Given the description of an element on the screen output the (x, y) to click on. 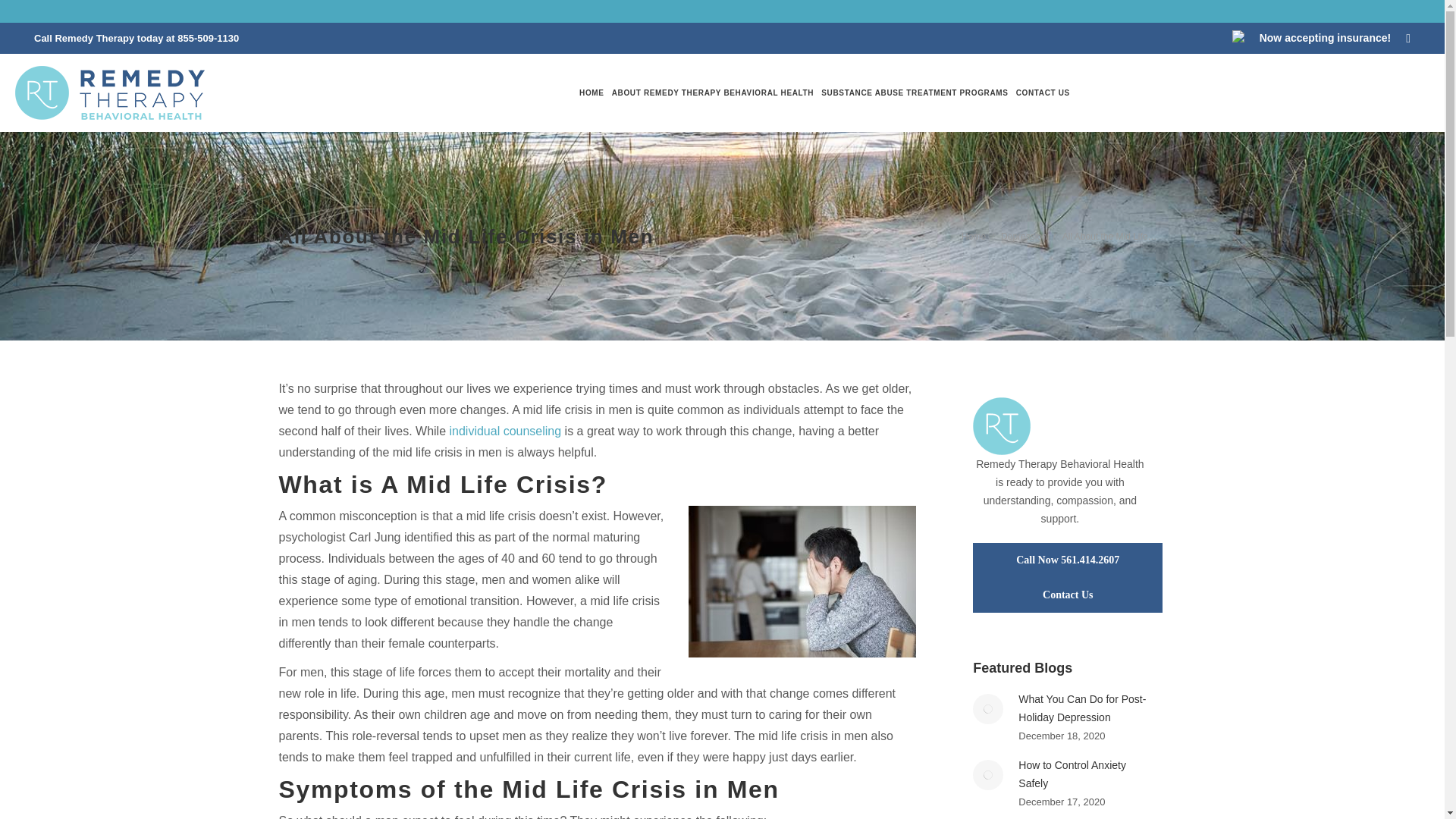
SUBSTANCE ABUSE TREATMENT PROGRAMS (914, 93)
855-509-1130 (207, 38)
CONTACT US (1043, 93)
Now accepting insurance! (1324, 37)
HOME (591, 93)
Go! (24, 15)
Contact Us (1066, 594)
ABOUT REMEDY THERAPY BEHAVIORAL HEALTH (712, 93)
